Given the description of an element on the screen output the (x, y) to click on. 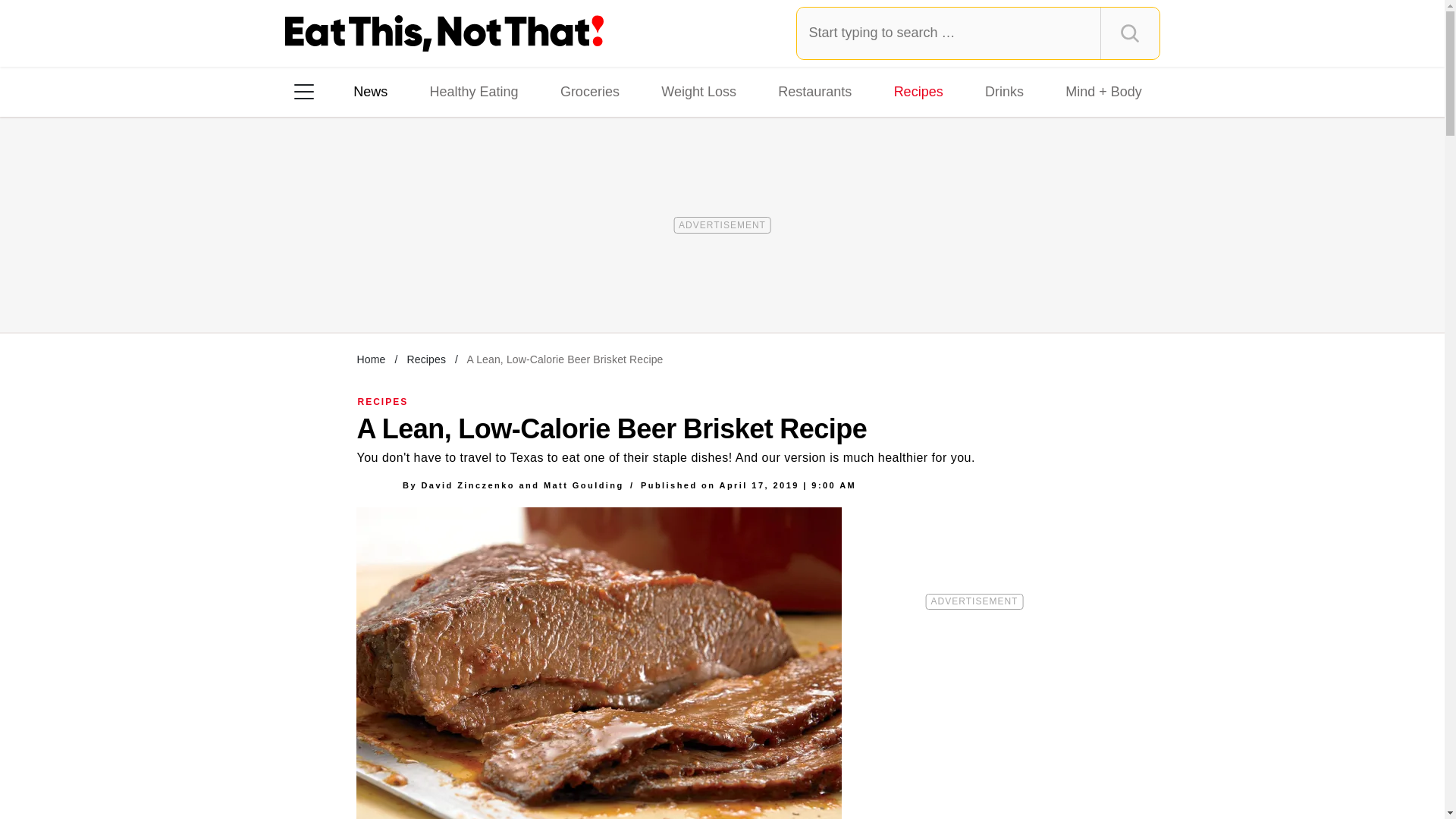
Instagram (357, 287)
Recipes (425, 358)
Type and press Enter to search (978, 32)
Drinks (1003, 91)
News (370, 91)
Eat This Not That Homepage (444, 33)
Pinterest (443, 287)
David Zinczenko and Matt Goulding (521, 484)
Facebook (314, 287)
Pinterest (443, 287)
Restaurants (814, 91)
Recipes (918, 91)
RECIPES (383, 401)
Facebook (314, 287)
Weight Loss (698, 91)
